Given the description of an element on the screen output the (x, y) to click on. 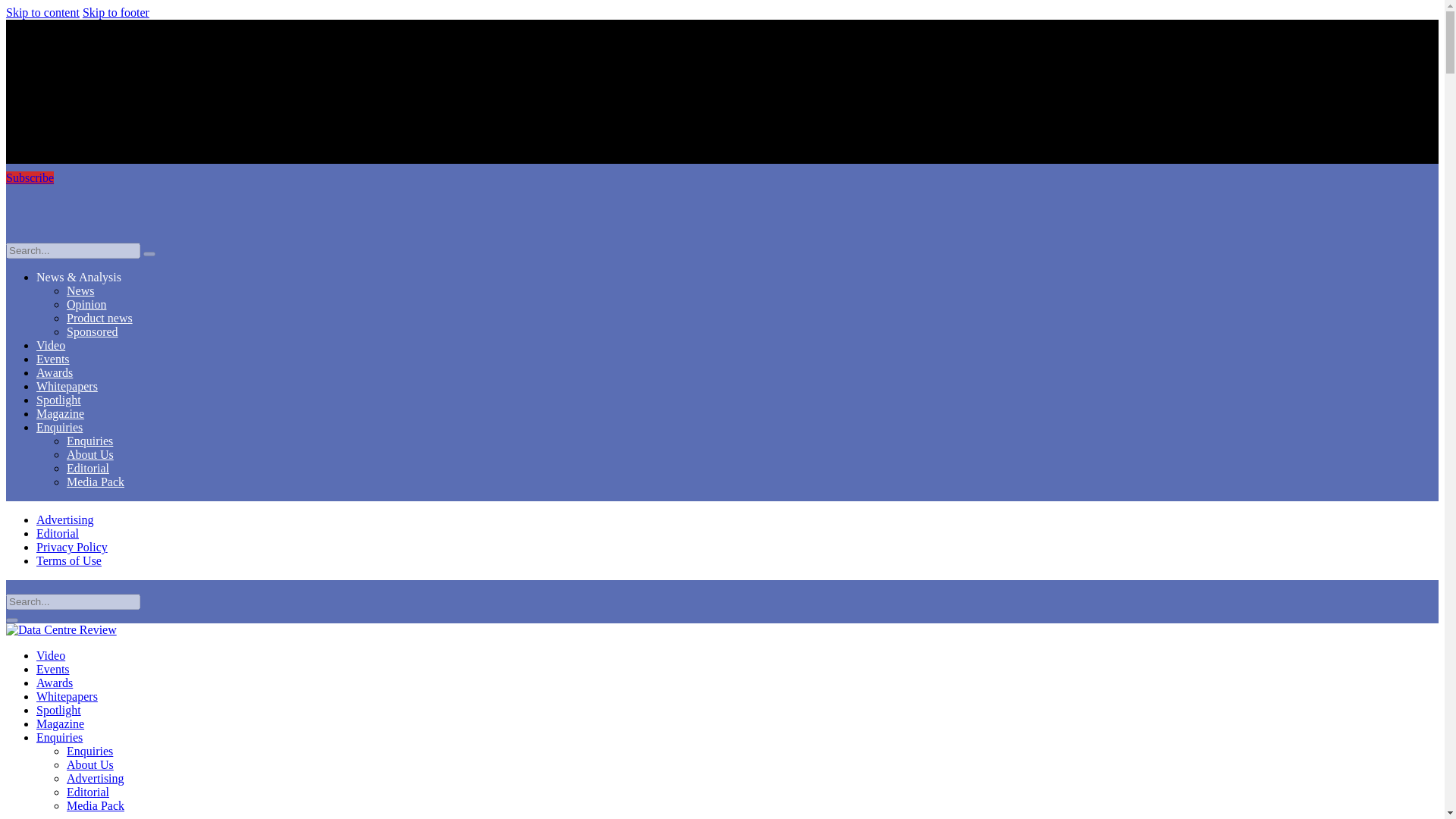
Events (52, 358)
Enquiries (89, 750)
DCR logo-white-2024-v1 (722, 213)
Subscribe (29, 177)
Enquiries (59, 737)
Editorial (57, 533)
Magazine (60, 723)
Terms of Use (68, 560)
Opinion (86, 304)
Skip to content (42, 11)
